Given the description of an element on the screen output the (x, y) to click on. 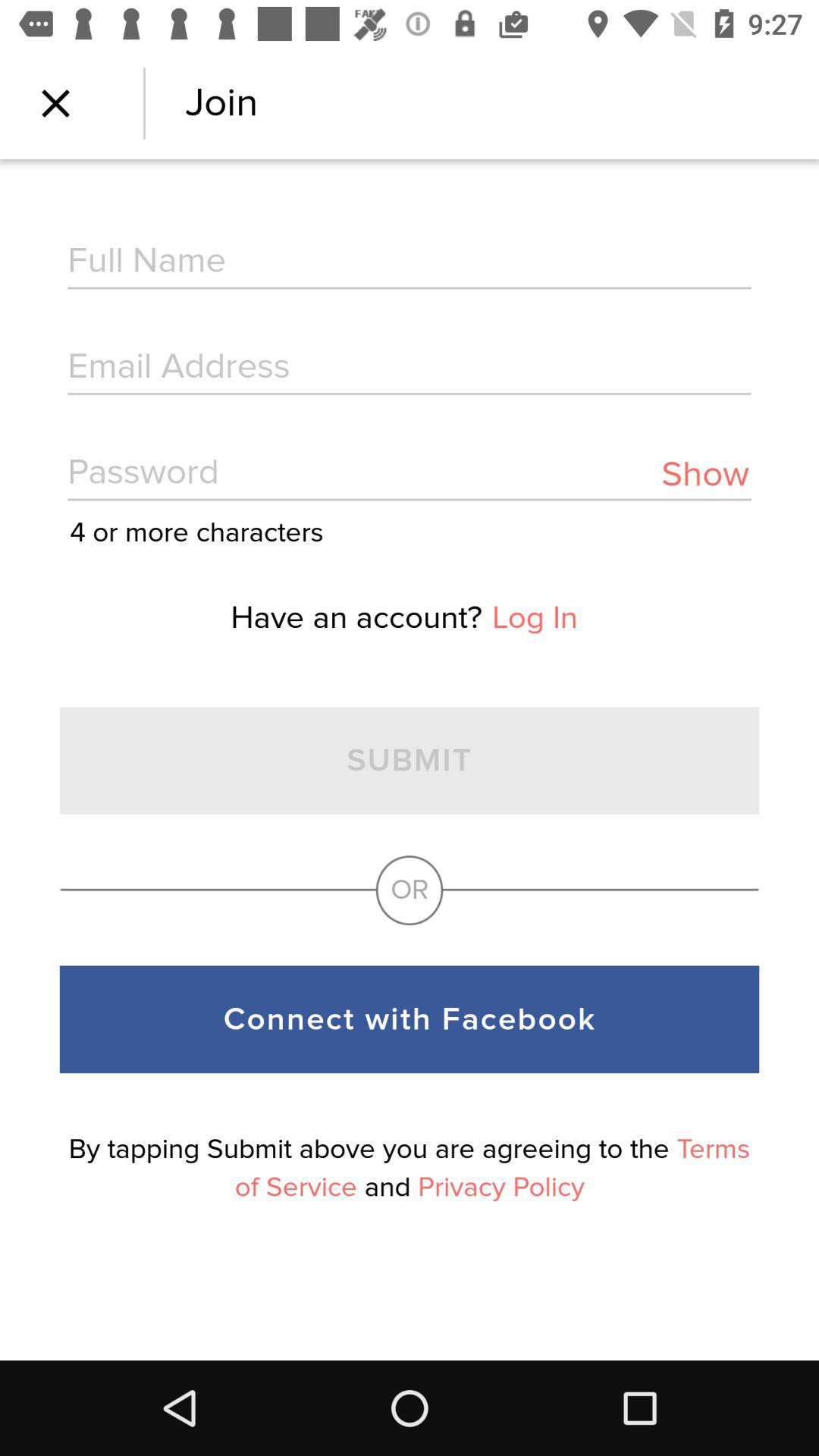
enter the password (409, 474)
